Given the description of an element on the screen output the (x, y) to click on. 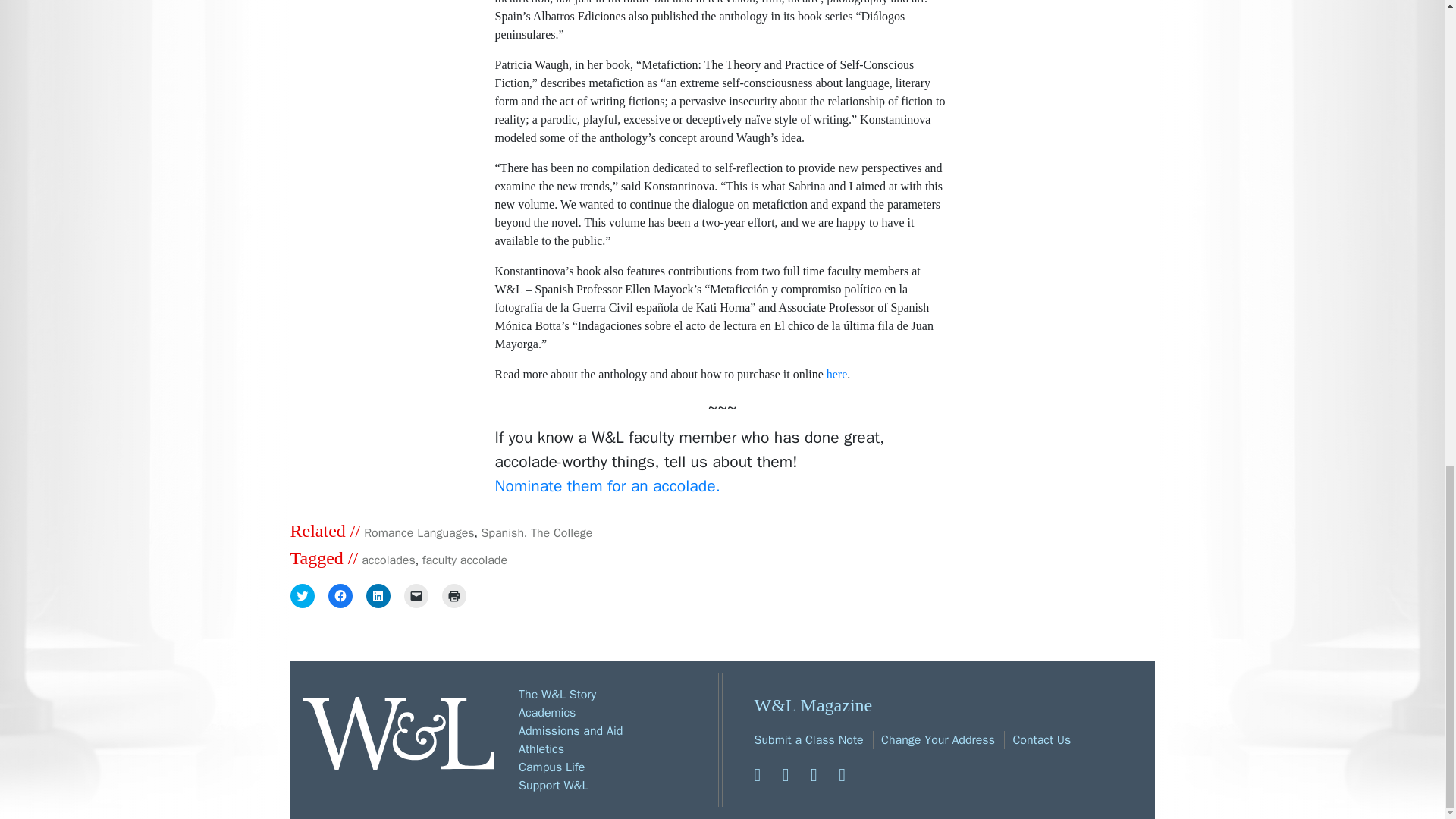
Click to print (453, 595)
Click to email a link to a friend (415, 595)
Click to share on Facebook (339, 595)
Click to share on Twitter (301, 595)
Click to share on LinkedIn (377, 595)
